Given the description of an element on the screen output the (x, y) to click on. 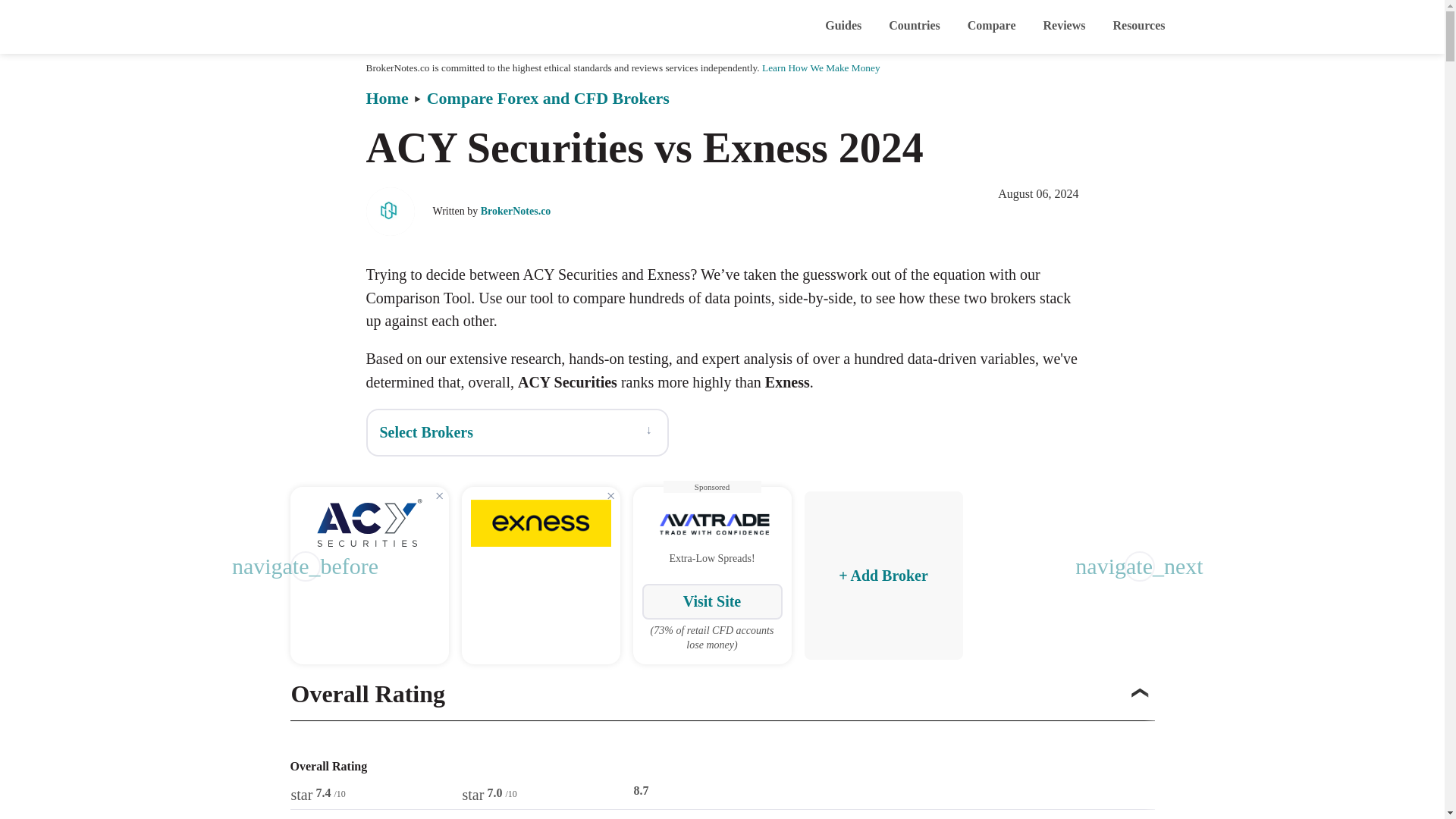
Compare (992, 26)
AvaTrade (711, 522)
ACY Securities (368, 522)
BrokerNotes.co (342, 26)
Exness (540, 522)
Learn How We Make Money (820, 67)
Countries (914, 26)
